Given the description of an element on the screen output the (x, y) to click on. 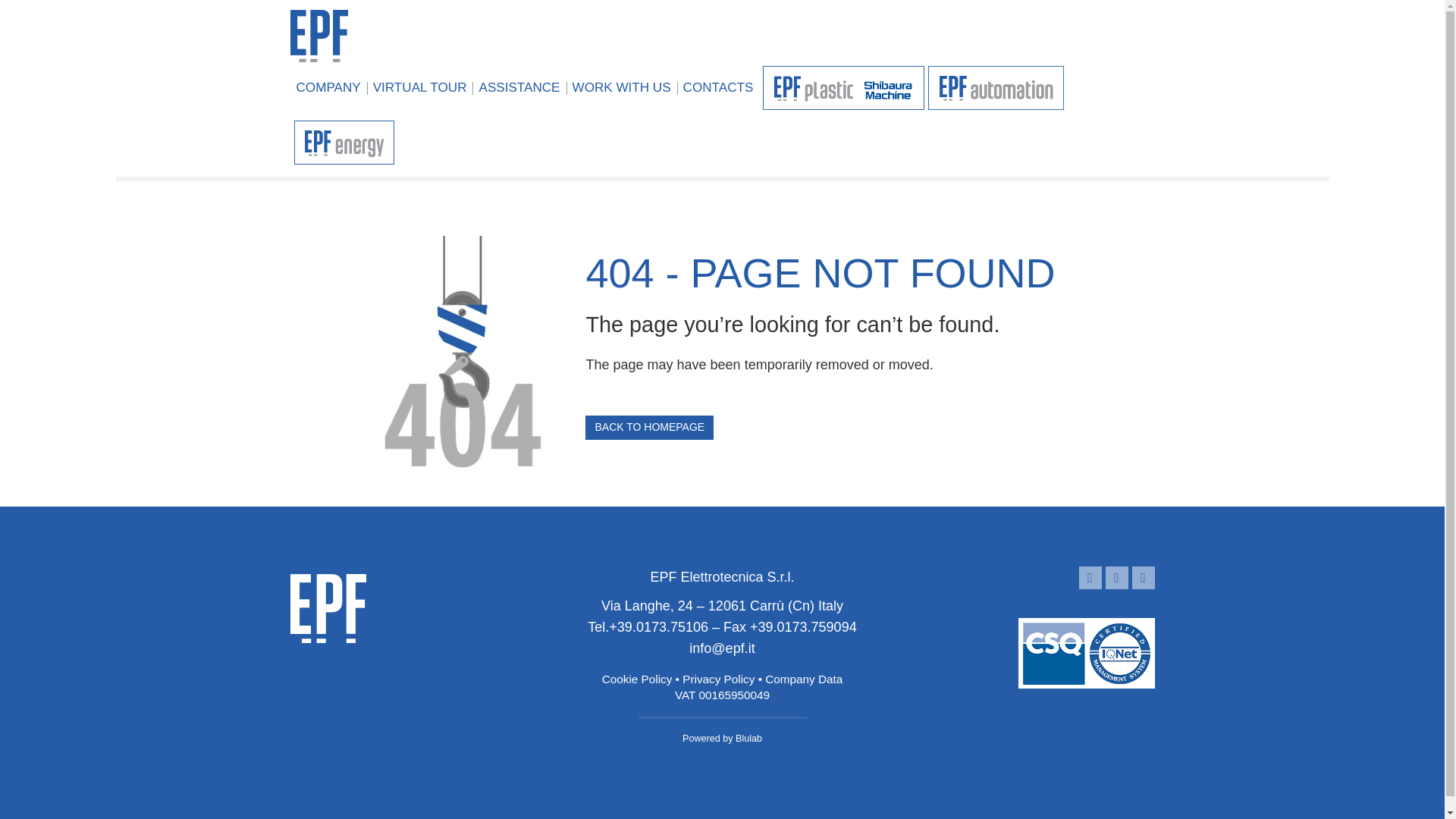
Blulab (748, 738)
Cookie Policy (637, 678)
Privacy Policy (718, 678)
CONTACTS (718, 89)
EPF ENERGY (344, 144)
COMPANY (327, 89)
BACK TO HOMEPAGE (649, 427)
ASSISTANCE (519, 89)
EPF PLASTIC (843, 89)
AUTOMATION (996, 89)
